Given the description of an element on the screen output the (x, y) to click on. 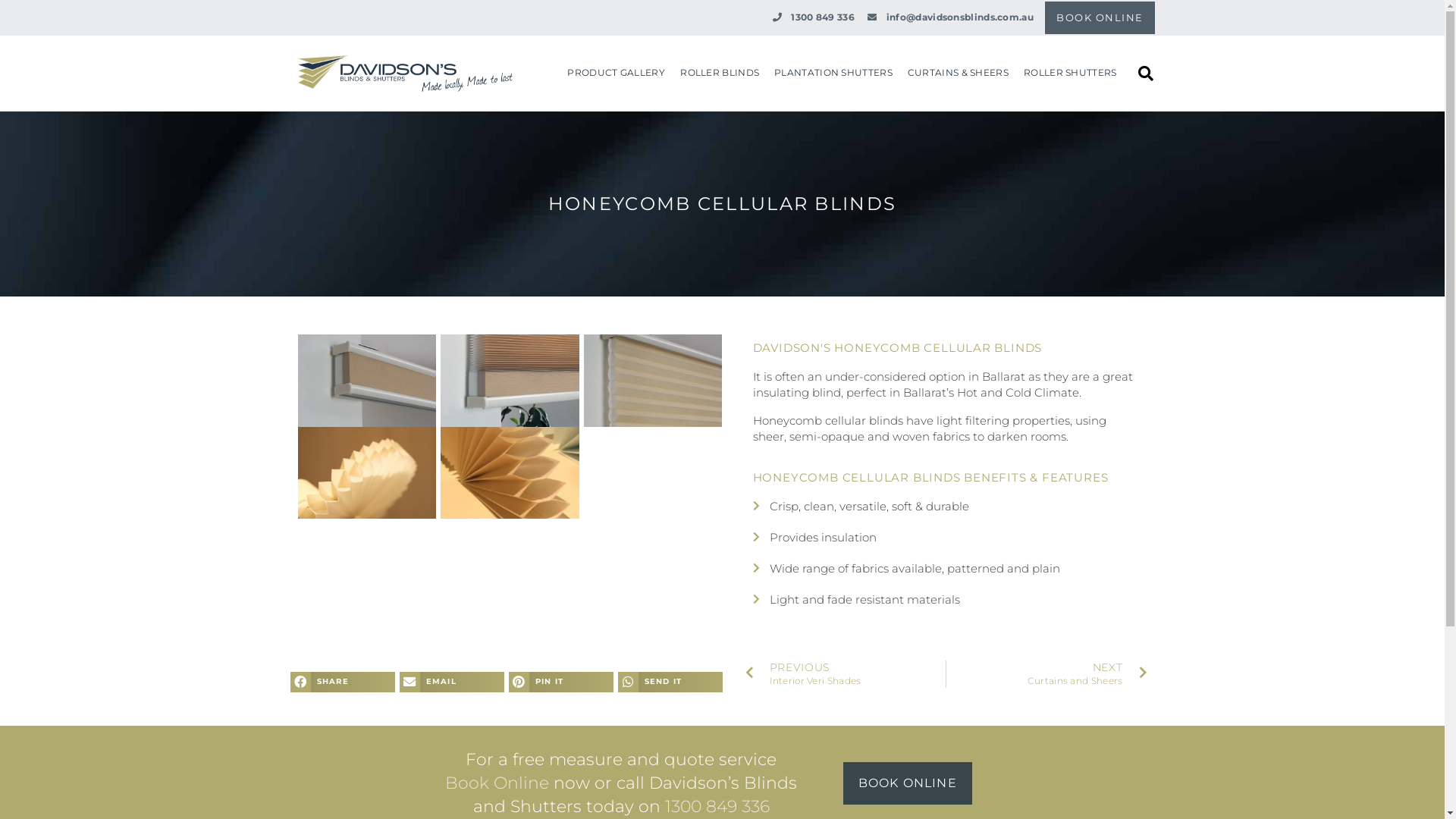
Book Online Element type: text (497, 782)
NEXT
Curtains and Sheers Element type: text (1046, 673)
PREVIOUS
Interior Veri Shades Element type: text (844, 673)
1300 849 336 Element type: text (812, 17)
1300 849 336 Element type: text (717, 806)
info@davidsonsblinds.com.au Element type: text (949, 17)
ROLLER BLINDS Element type: text (719, 73)
CURTAINS & SHEERS Element type: text (958, 73)
BOOK ONLINE Element type: text (907, 783)
PRODUCT GALLERY Element type: text (615, 73)
BOOK ONLINE Element type: text (1099, 17)
PLANTATION SHUTTERS Element type: text (833, 73)
ROLLER SHUTTERS Element type: text (1070, 73)
